Given the description of an element on the screen output the (x, y) to click on. 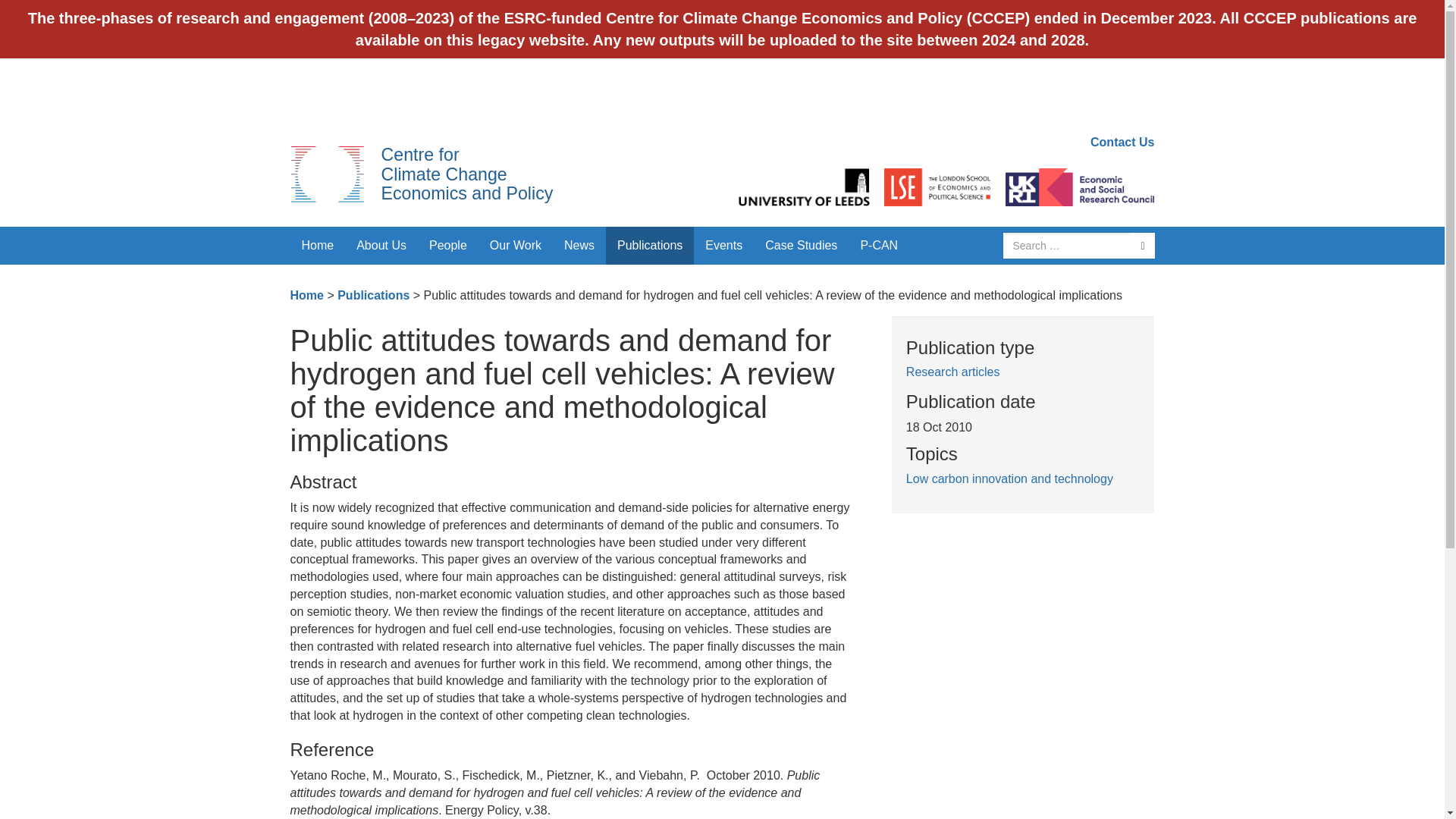
Publications (373, 295)
Our Work (516, 245)
Home (317, 245)
Go to Centre for Climate Change Economics and Policy. (306, 295)
Publications (649, 245)
Contact Us (1122, 141)
P-CAN (878, 245)
P-CAN (878, 245)
Case Studies (466, 173)
